Given the description of an element on the screen output the (x, y) to click on. 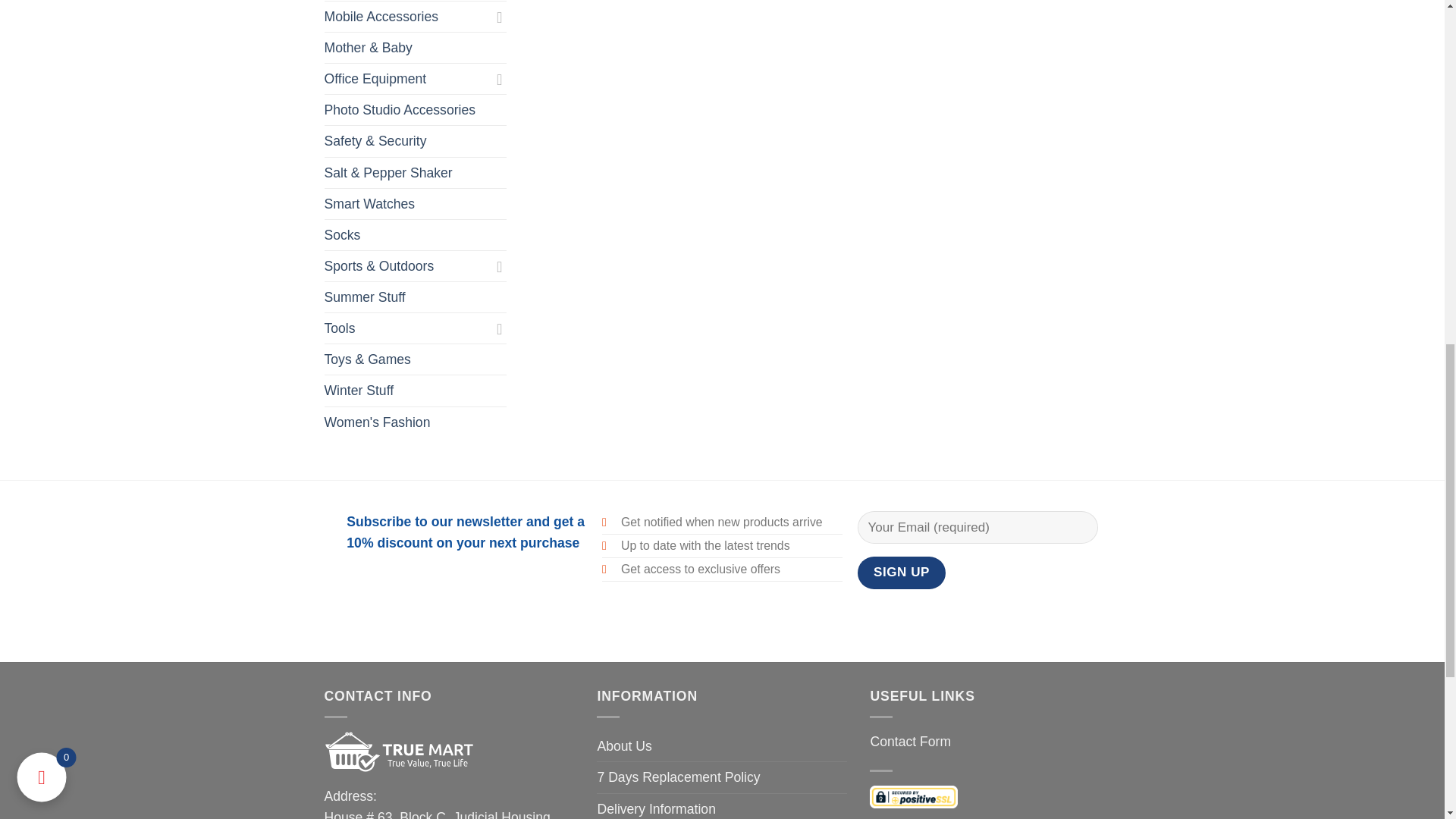
Sign Up (901, 572)
